Given the description of an element on the screen output the (x, y) to click on. 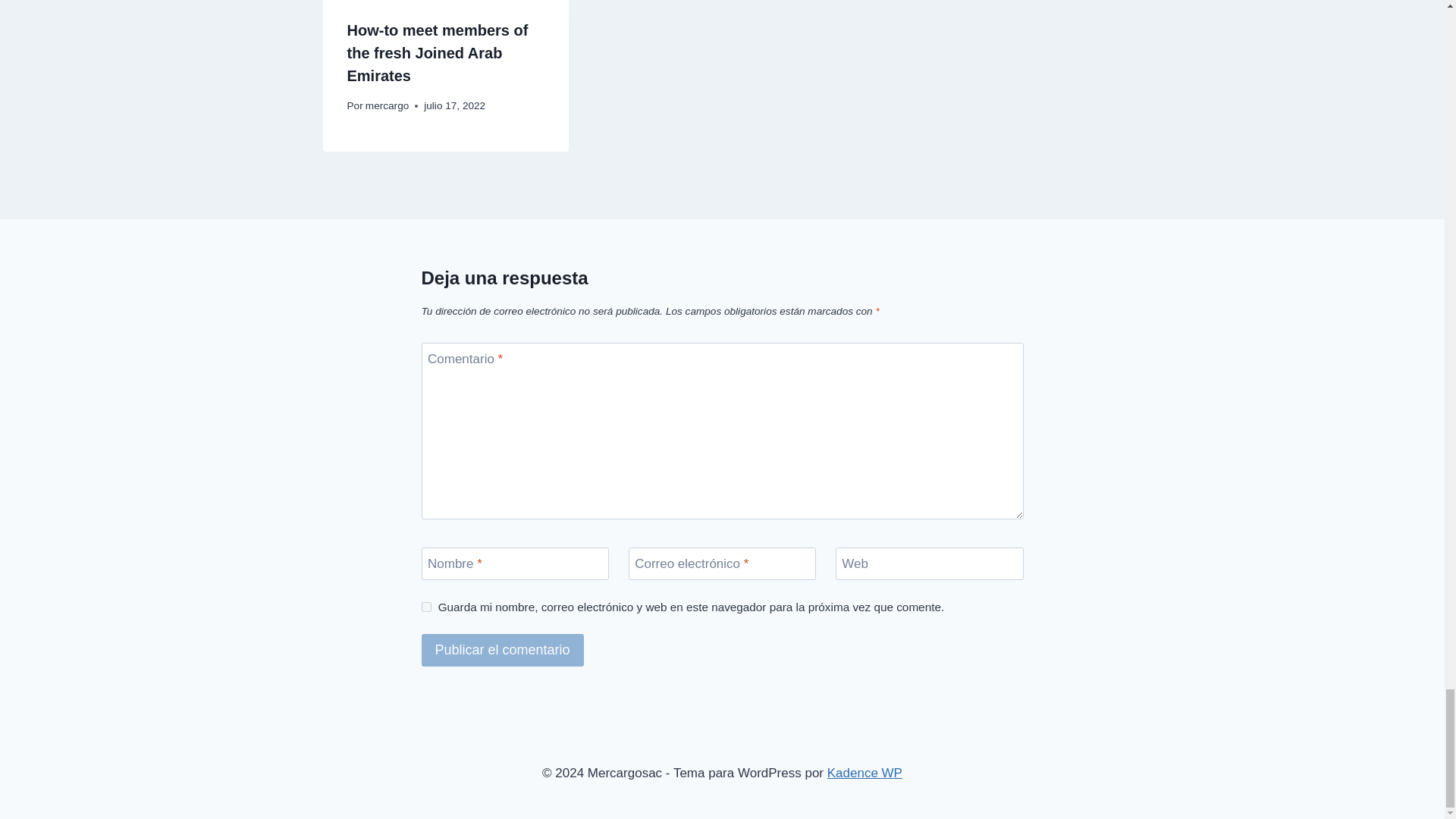
Publicar el comentario (502, 649)
Publicar el comentario (502, 649)
yes (426, 606)
Kadence WP (864, 772)
How-to meet members of the fresh Joined Arab Emirates (437, 53)
mercargo (387, 105)
